Given the description of an element on the screen output the (x, y) to click on. 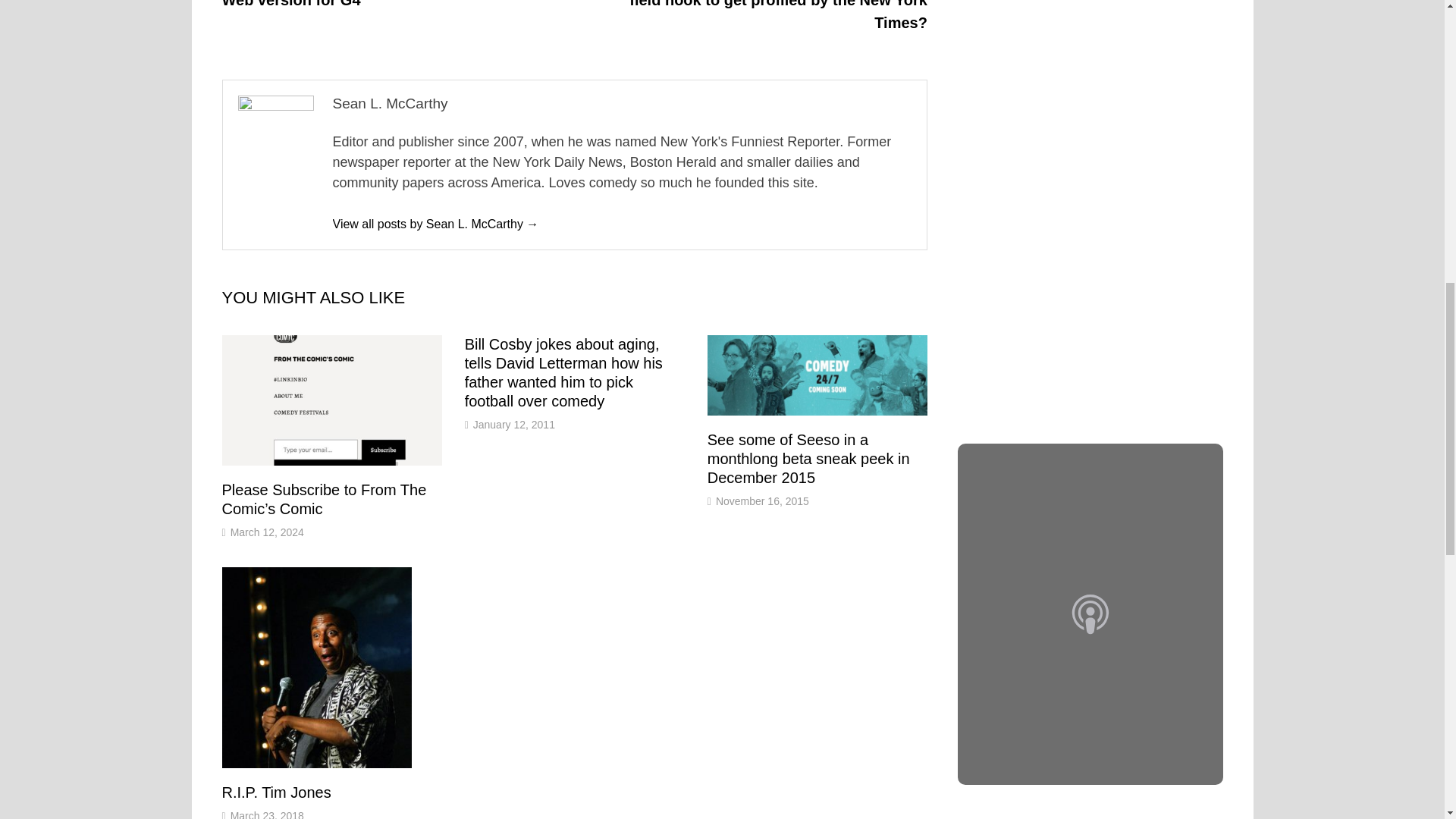
Sean L. McCarthy (434, 223)
January 12, 2011 (513, 424)
November 16, 2015 (762, 500)
March 23, 2018 (267, 814)
R.I.P. Tim Jones (275, 791)
